Given the description of an element on the screen output the (x, y) to click on. 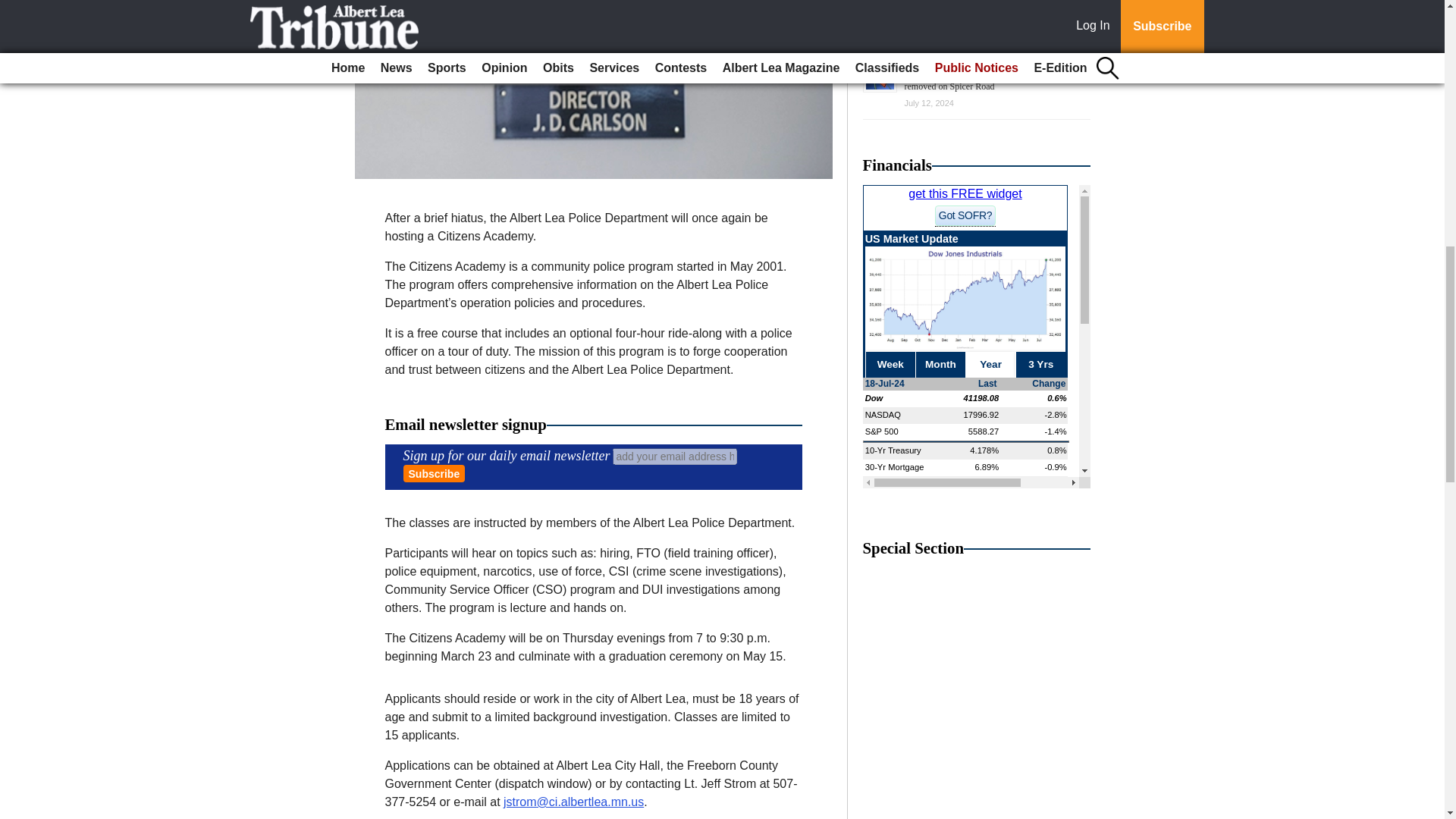
Subscribe (434, 473)
US Market Update (976, 336)
